Given the description of an element on the screen output the (x, y) to click on. 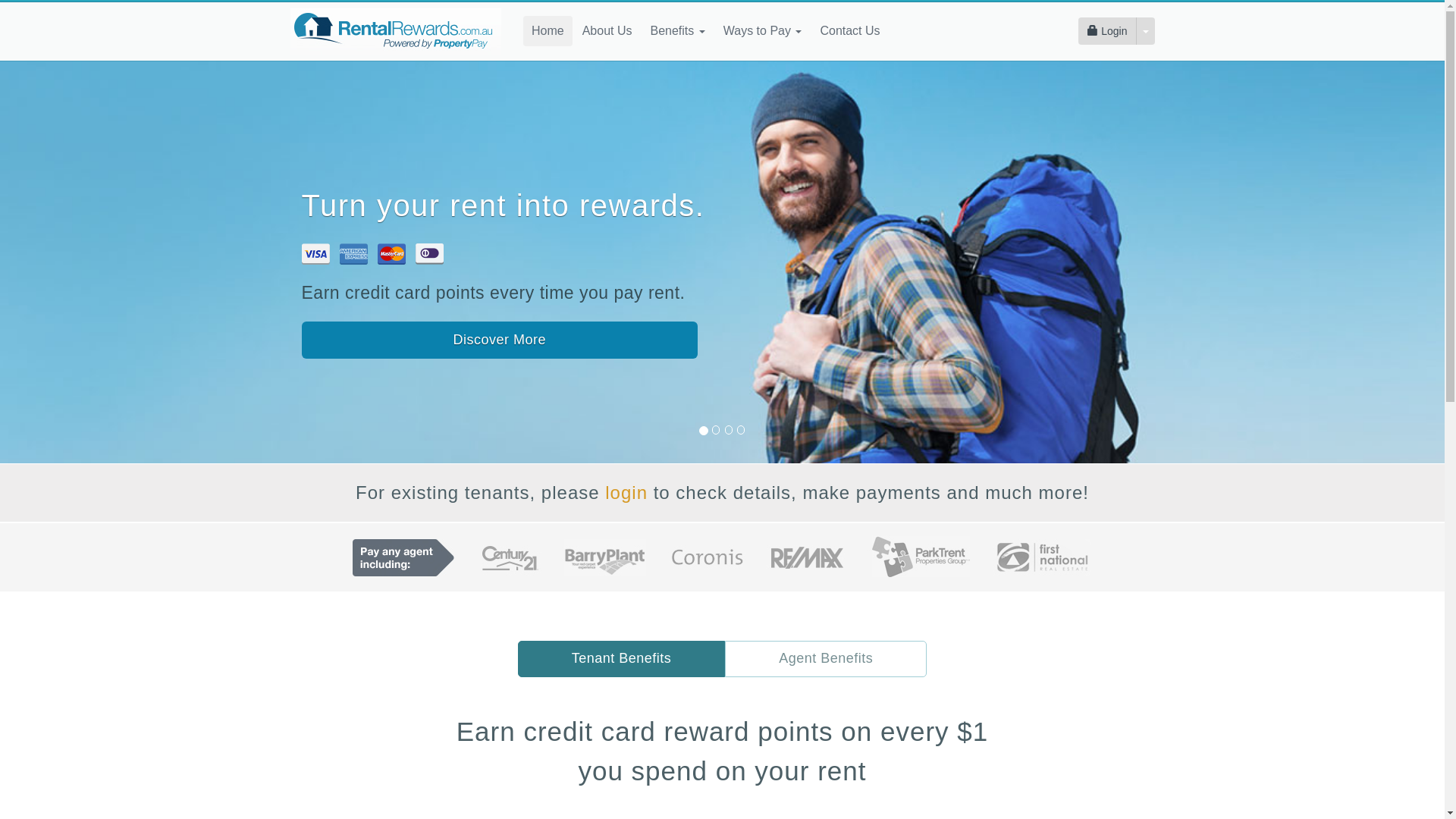
Contact Us Element type: text (849, 30)
Home Element type: text (547, 30)
Login Element type: text (1106, 30)
Toggle Dropdown Element type: text (1144, 30)
Discover More Element type: text (499, 340)
Agent Benefits Element type: text (825, 658)
Tenant Benefits Element type: text (621, 658)
login Element type: text (626, 492)
Benefits Element type: text (676, 30)
About Us Element type: text (607, 30)
Ways to Pay Element type: text (762, 30)
